Given the description of an element on the screen output the (x, y) to click on. 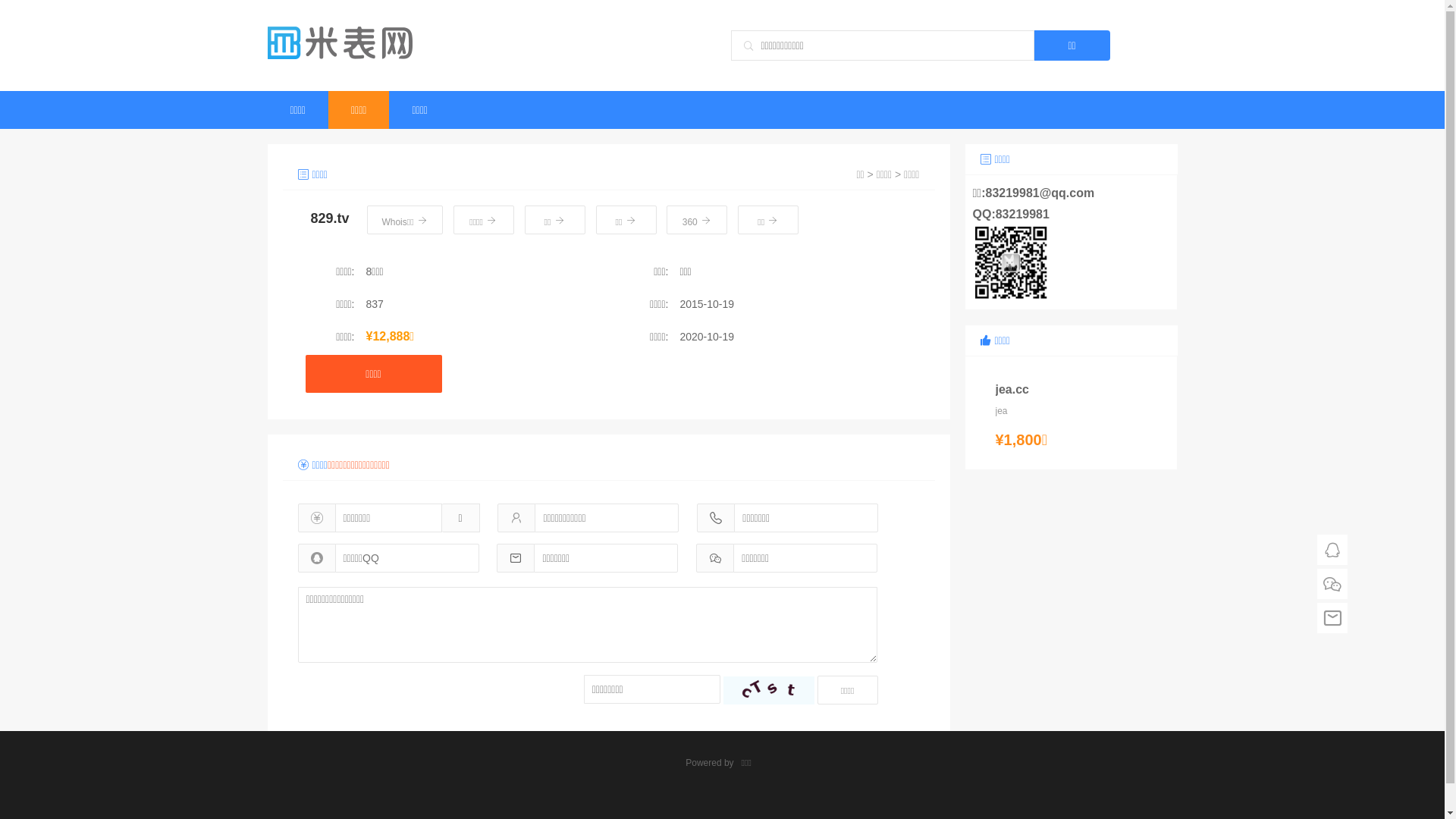
360 Element type: text (696, 219)
